Given the description of an element on the screen output the (x, y) to click on. 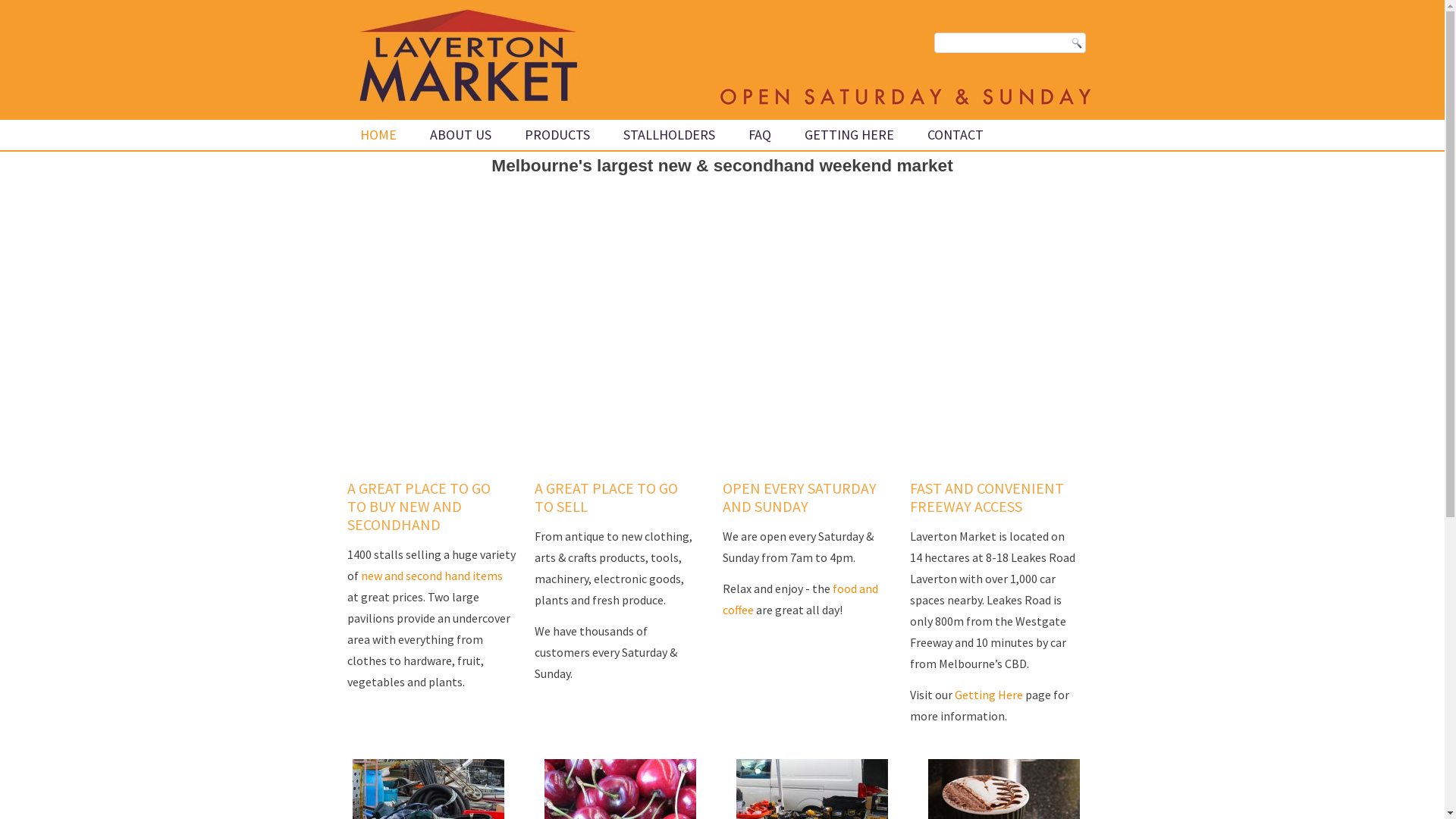
HOME Element type: text (378, 134)
food and coffee Element type: text (799, 598)
STALLHOLDERS Element type: text (668, 134)
PRODUCTS Element type: text (556, 134)
ABOUT US Element type: text (460, 134)
GETTING HERE Element type: text (848, 134)
Getting Here Element type: text (988, 694)
FAQ Element type: text (759, 134)
new and second hand items Element type: text (431, 575)
CONTACT Element type: text (955, 134)
